Given the description of an element on the screen output the (x, y) to click on. 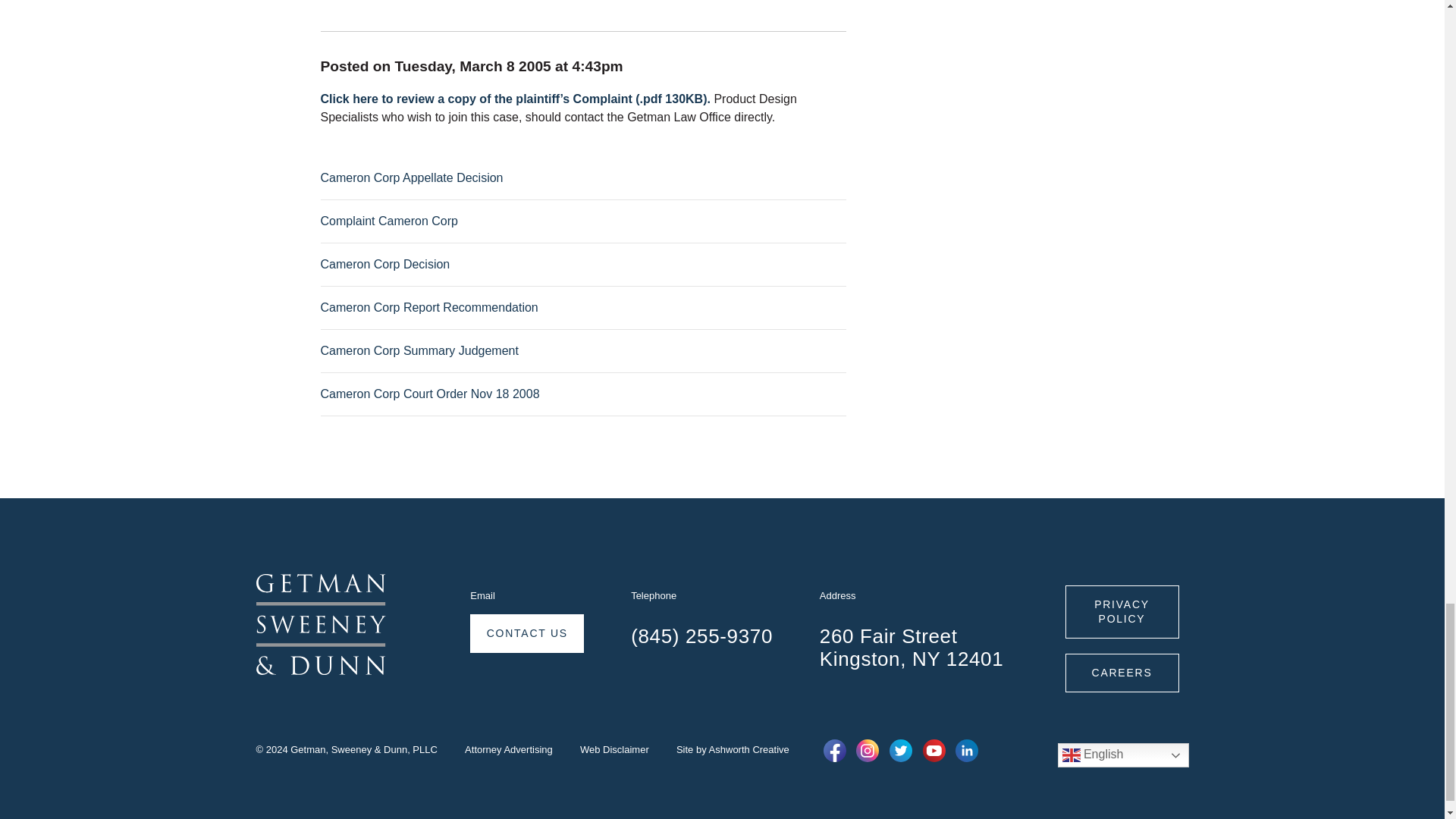
Cameron Corp Appellate Decision (411, 177)
Complaint Cameron Corp (388, 220)
